Given the description of an element on the screen output the (x, y) to click on. 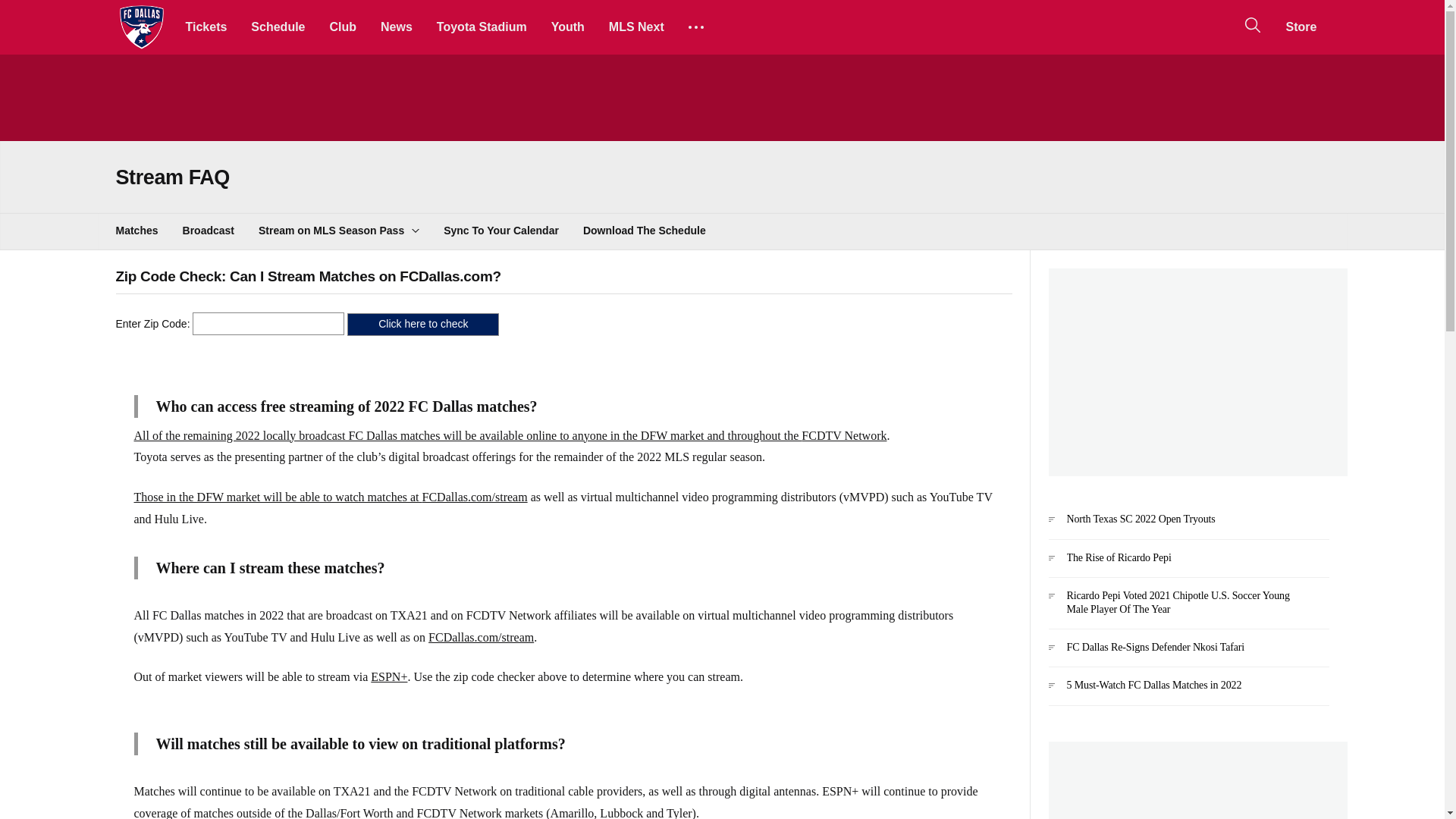
Tickets (205, 26)
The Rise of Ricardo Pepi (1187, 564)
Toyota Stadium (481, 26)
FC Dallas (141, 27)
Store (1301, 26)
MLS Next (636, 26)
Club (342, 26)
Youth (567, 26)
FC Dallas Re-Signs Defender Nkosi Tafari (1187, 653)
